Given the description of an element on the screen output the (x, y) to click on. 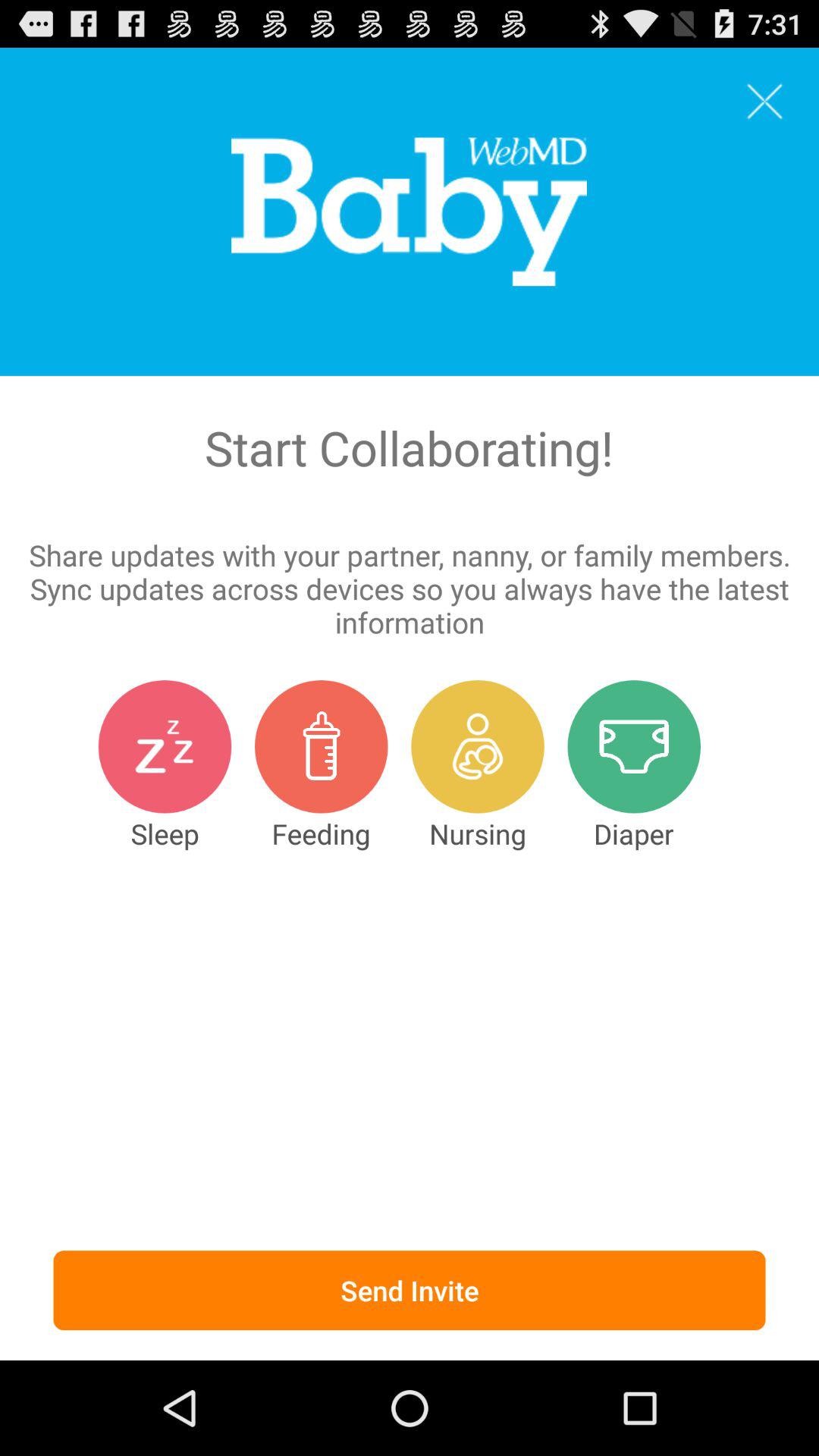
select icon below the sleep app (409, 1290)
